Given the description of an element on the screen output the (x, y) to click on. 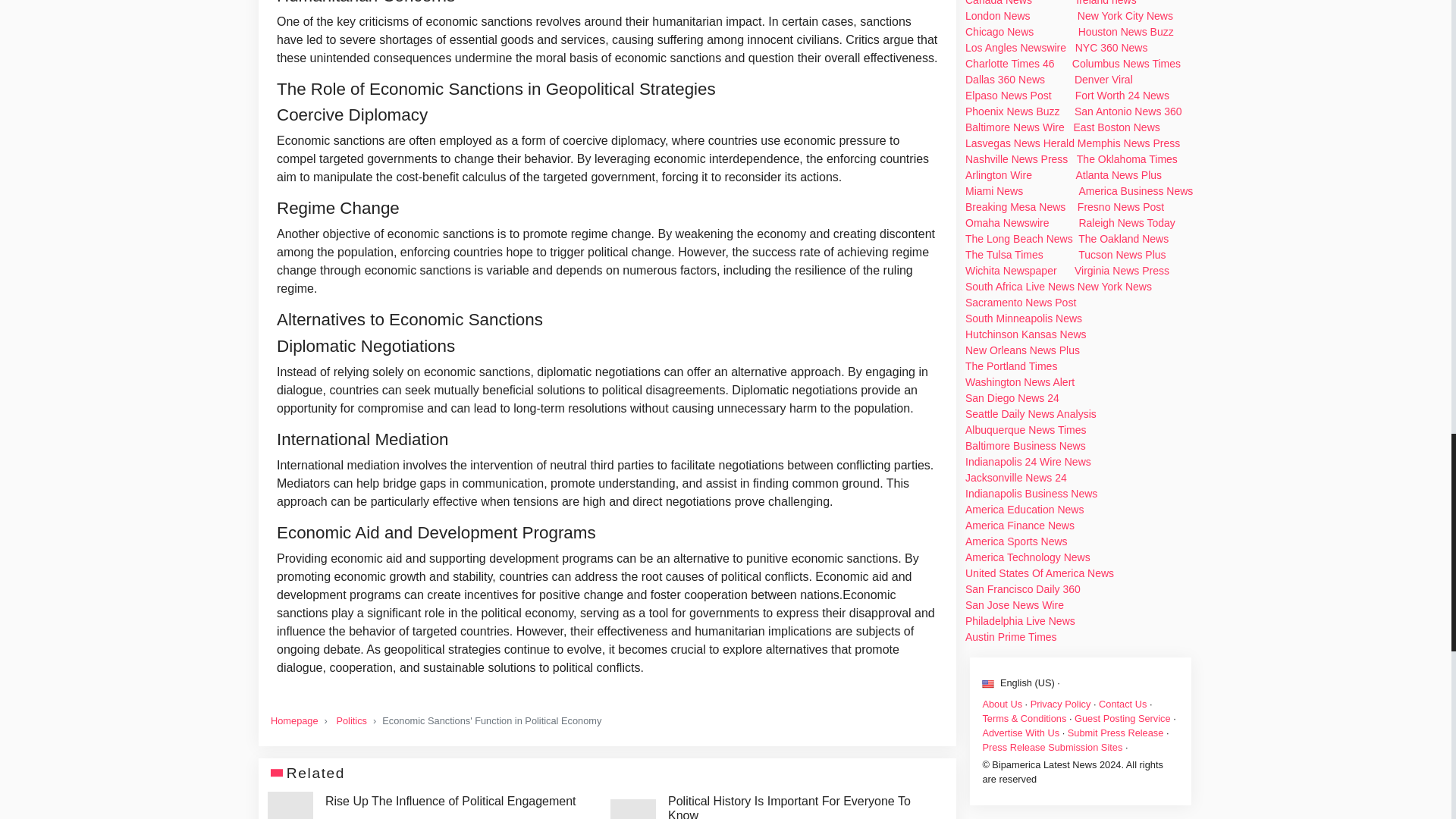
Rise Up The Influence of Political Engagement (450, 800)
Rise Up The Influence of Political Engagement (450, 800)
Political History Is Important For Everyone To Know (804, 806)
Politics (351, 720)
Homepage (294, 720)
Political History Is Important For Everyone To Know (804, 806)
